Given the description of an element on the screen output the (x, y) to click on. 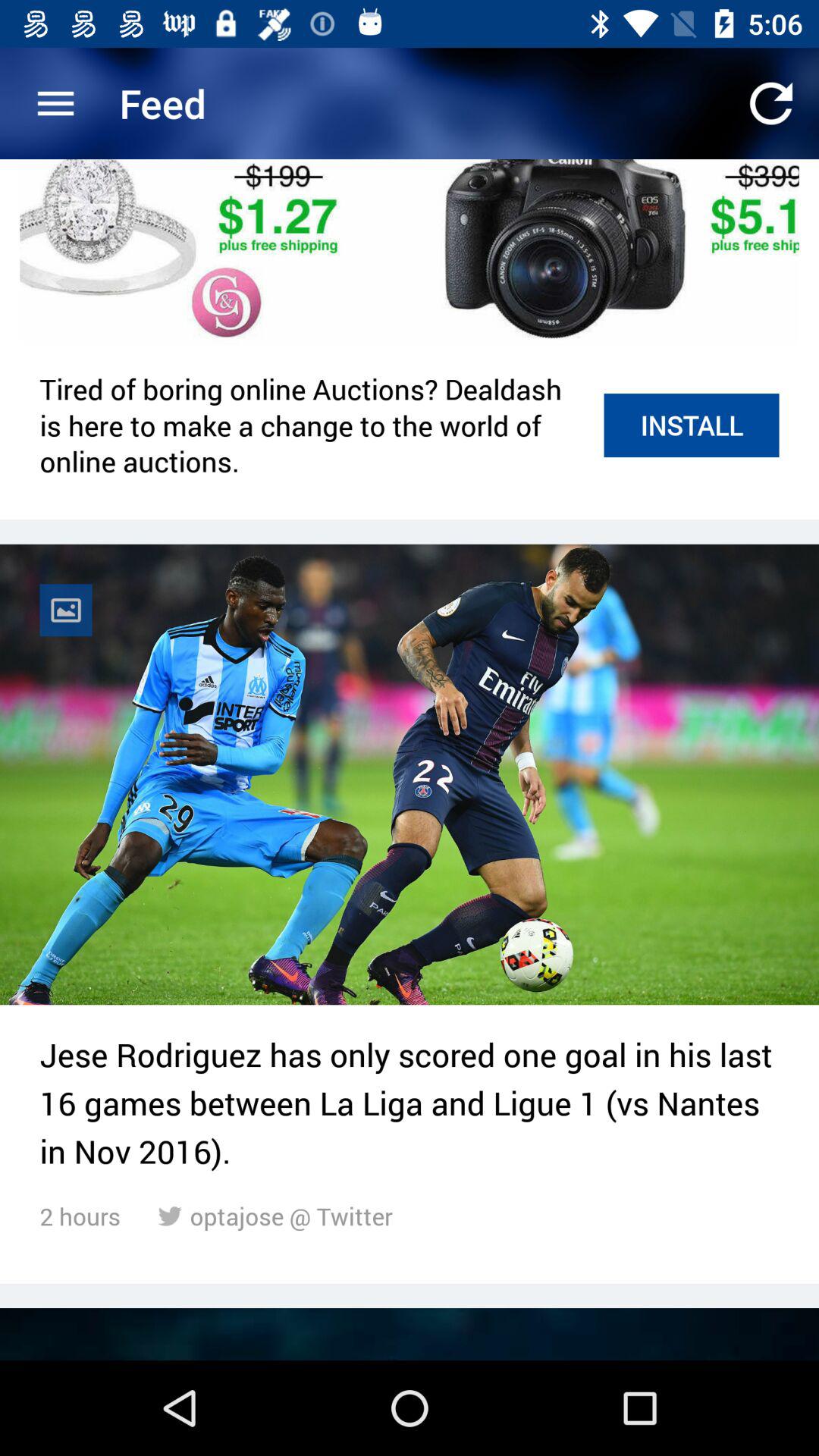
select the item above tired of boring item (409, 252)
